Given the description of an element on the screen output the (x, y) to click on. 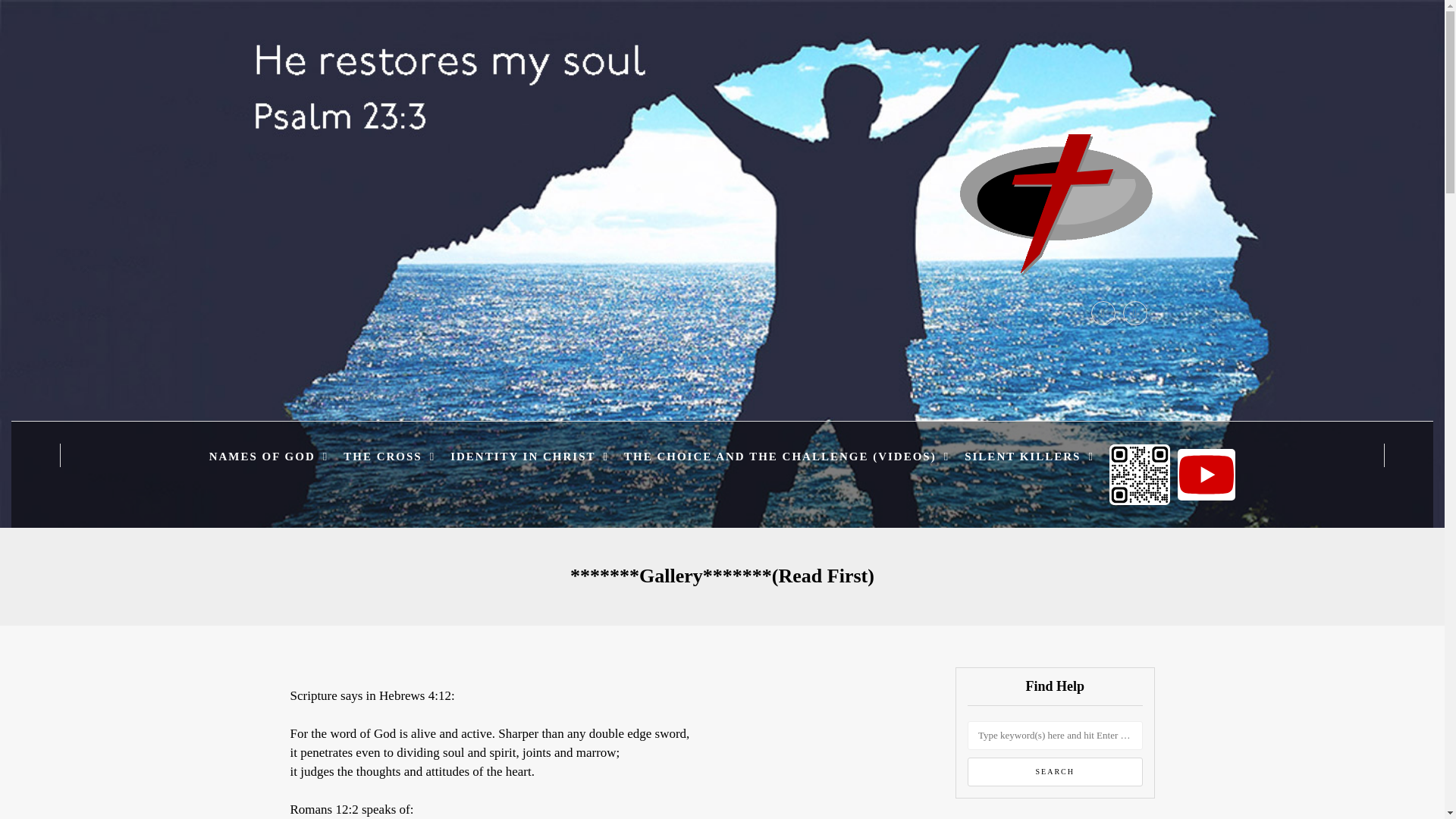
THE CROSS (389, 456)
Search (1055, 771)
NAMES OF GOD (269, 456)
Website Overview (431, 232)
